Given the description of an element on the screen output the (x, y) to click on. 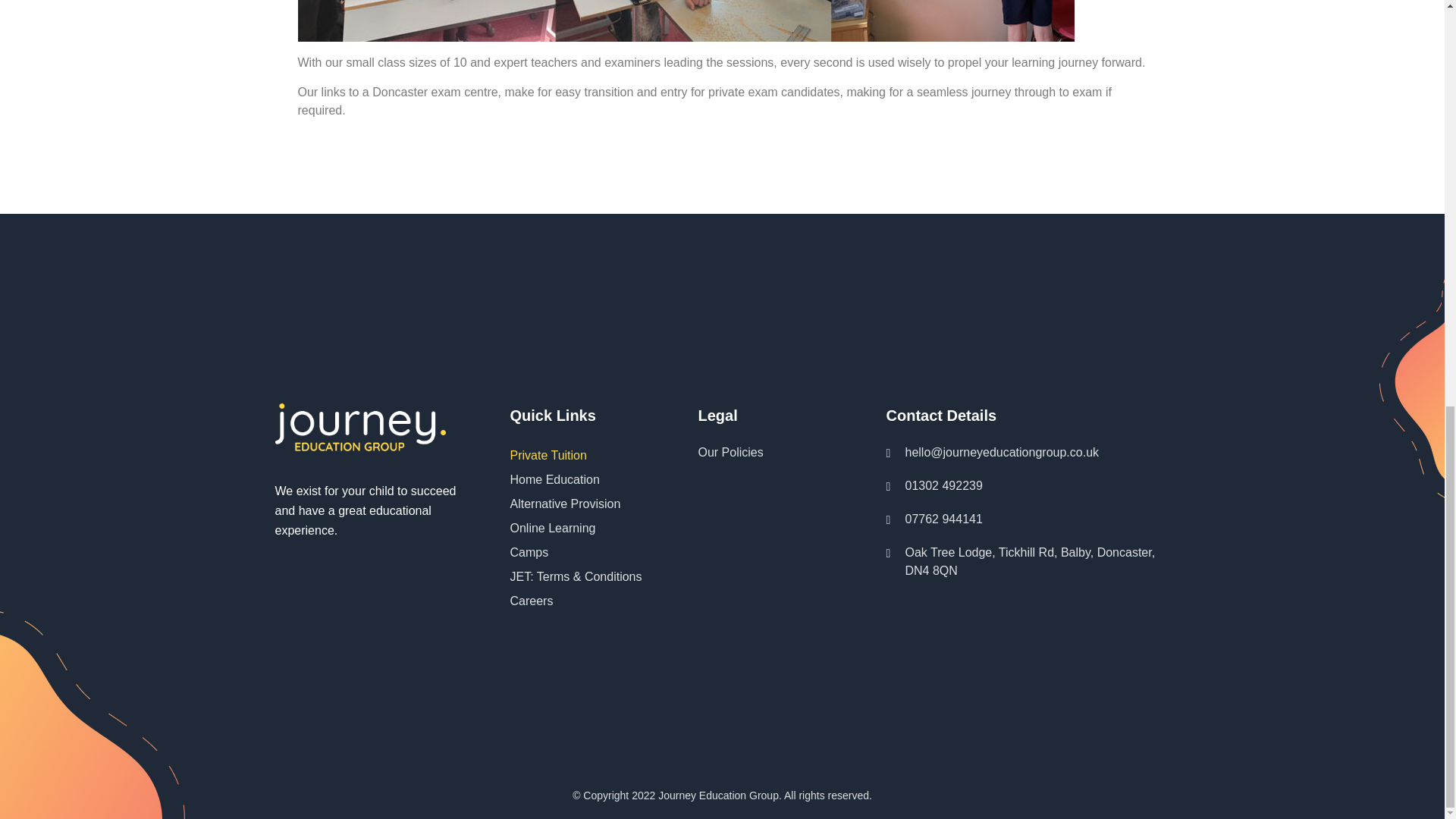
Online Learning (580, 528)
Alternative Provision (580, 504)
Our Policies (768, 452)
Home Education (580, 479)
Private Tuition (580, 455)
Careers (580, 600)
Camps (580, 552)
